Given the description of an element on the screen output the (x, y) to click on. 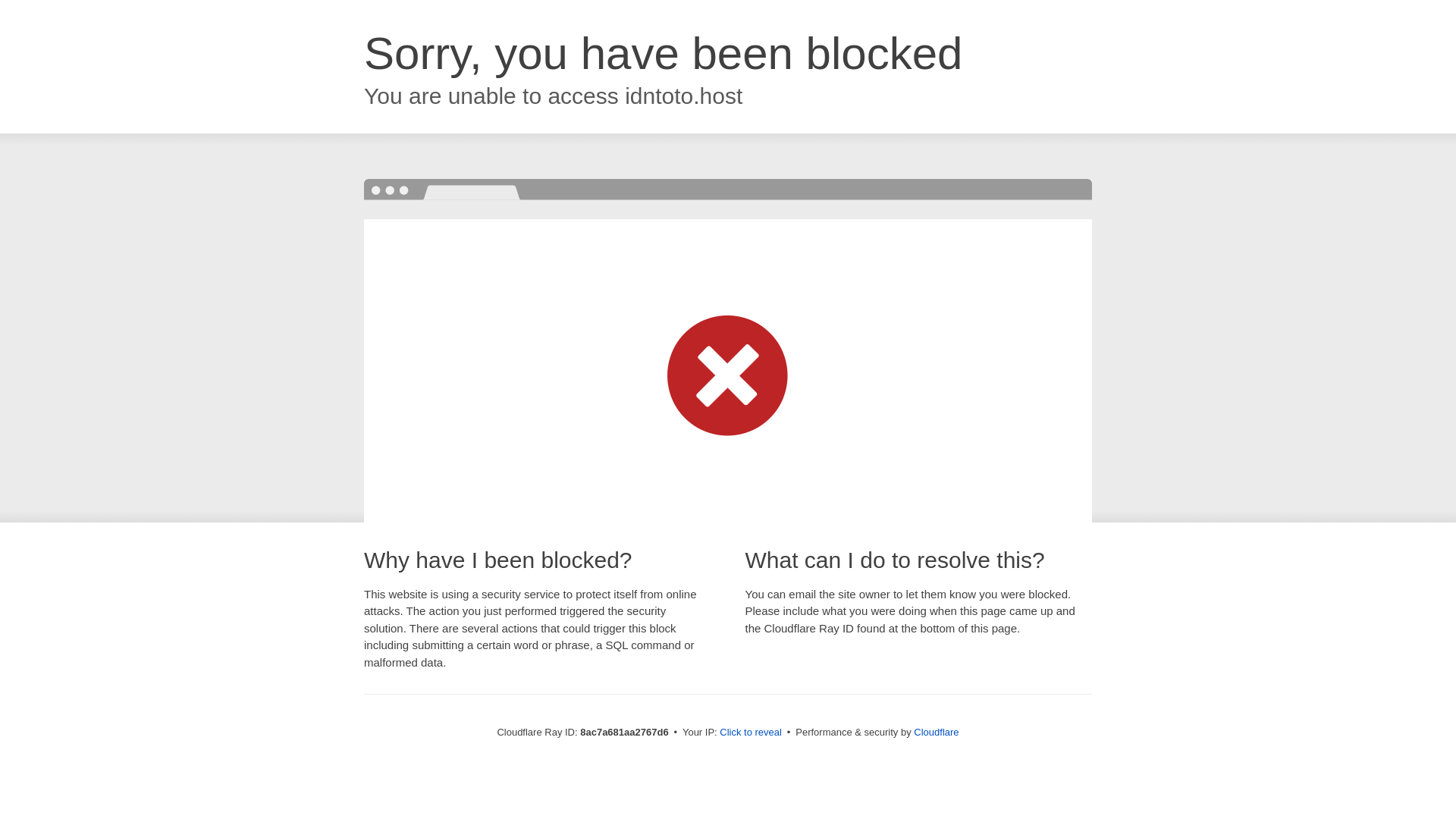
Click to reveal (750, 732)
Cloudflare (936, 731)
